Given the description of an element on the screen output the (x, y) to click on. 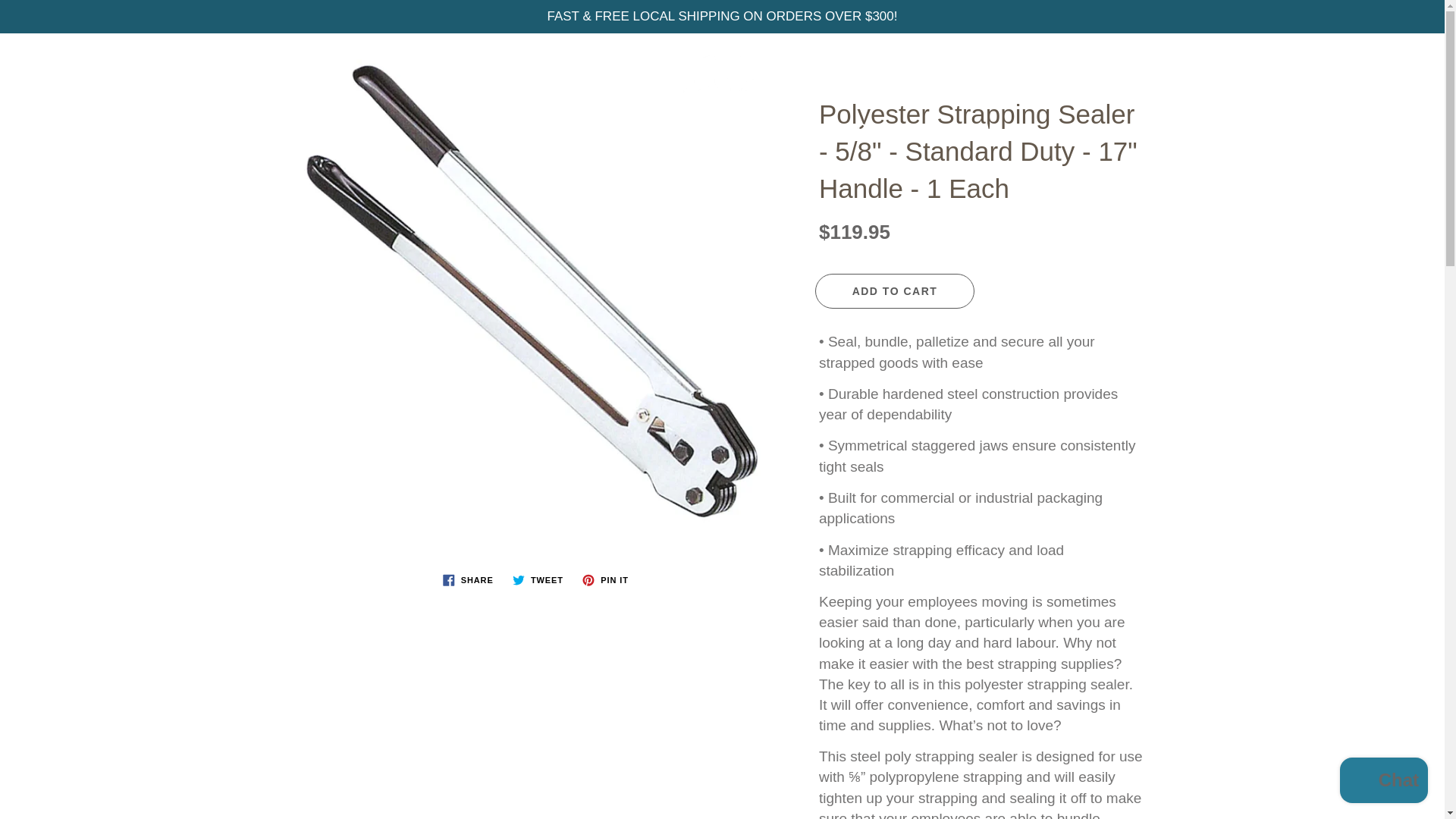
My account (1379, 59)
You have 0 items in your cart (1417, 59)
OUR PRODUCTS (501, 128)
Tweet on Twitter (537, 579)
Share on Facebook (467, 579)
Shopify online store chat (1383, 781)
Pin on Pinterest (604, 579)
Search (28, 59)
